Given the description of an element on the screen output the (x, y) to click on. 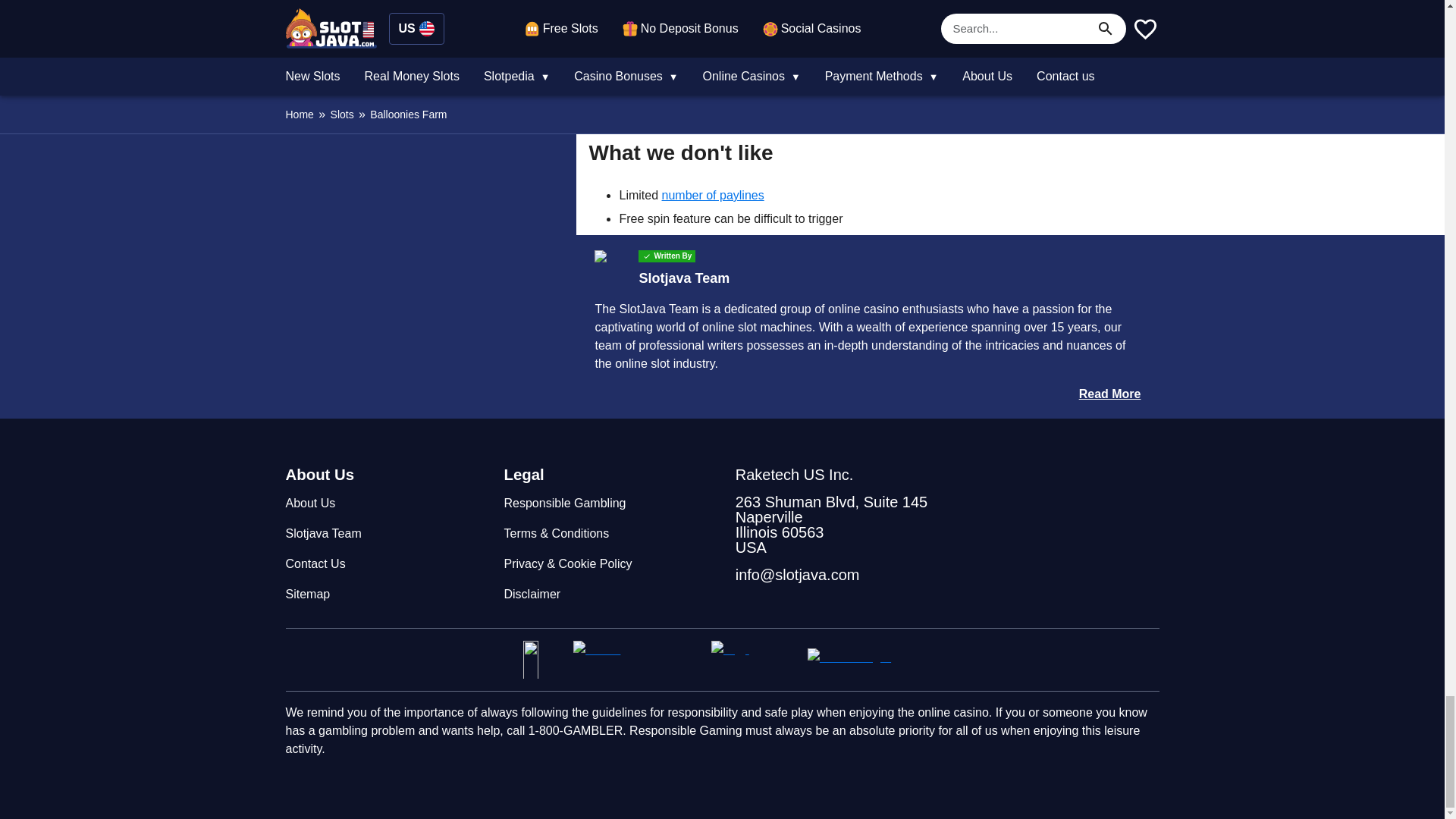
Slotjava partner (541, 659)
Slotjava partner (864, 659)
Slotjava partner (752, 659)
Slotjava partner (635, 659)
